Given the description of an element on the screen output the (x, y) to click on. 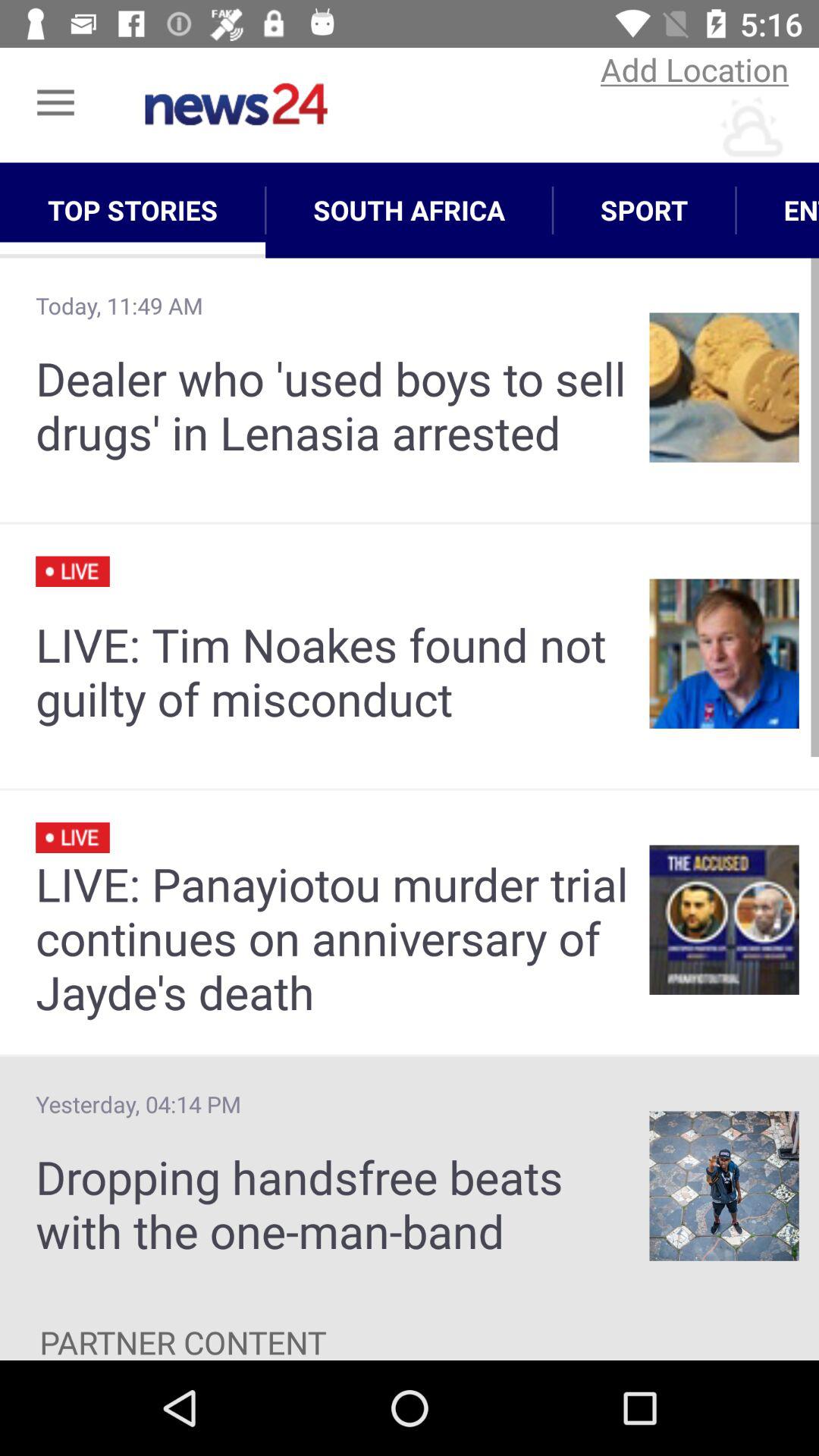
tap the app to the left of the south africa item (132, 210)
